Given the description of an element on the screen output the (x, y) to click on. 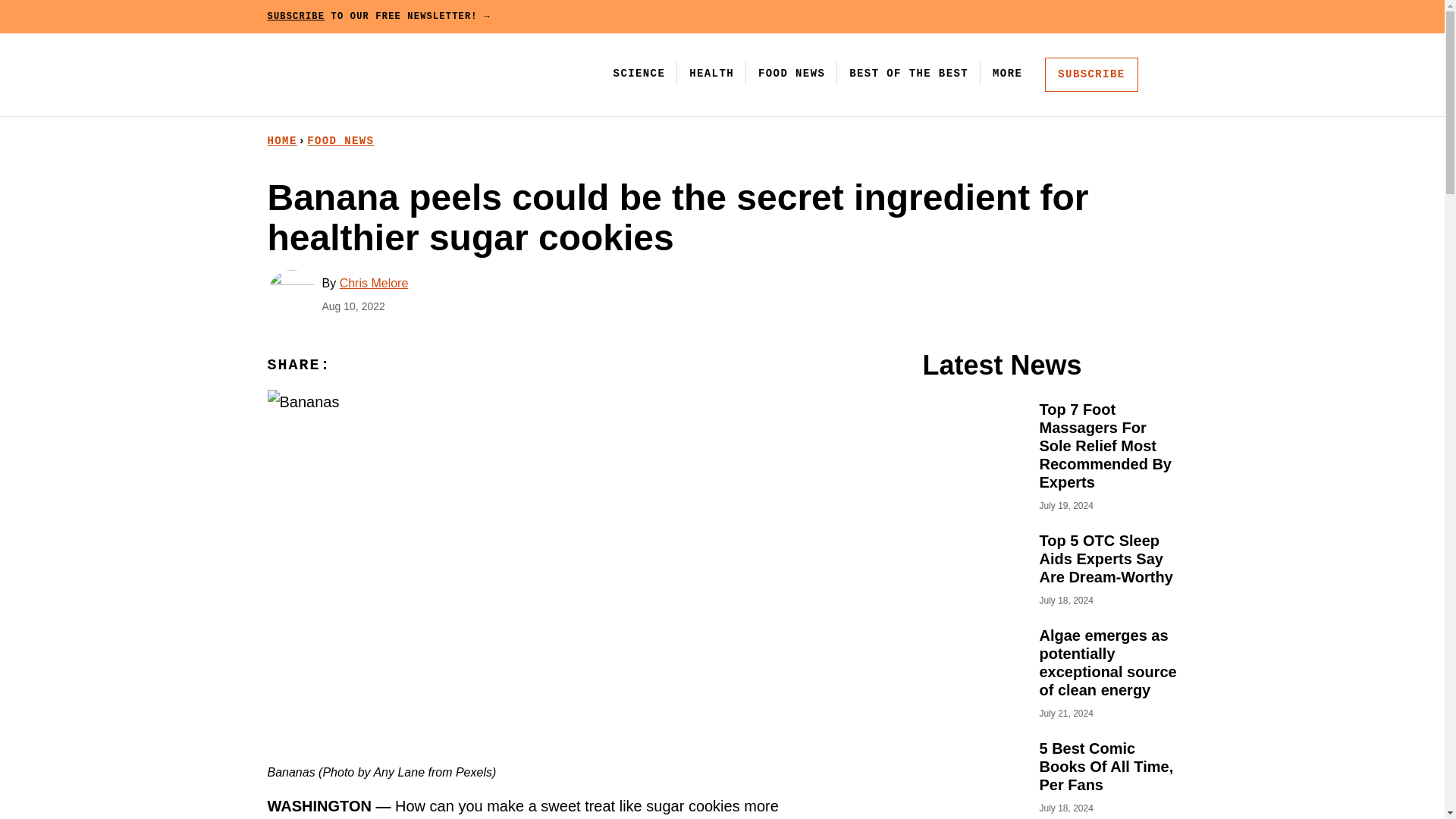
FOOD NEWS (340, 141)
Share on Twitter (413, 365)
Share on Yummly (447, 365)
Share on Pinterest (348, 365)
Share via Email (480, 365)
Share on Facebook (381, 365)
SCIENCE (639, 73)
SUBSCRIBE (1091, 74)
HEALTH (711, 73)
BEST OF THE BEST (908, 73)
FOOD NEWS (791, 73)
HOME (281, 141)
MORE (1009, 73)
